Given the description of an element on the screen output the (x, y) to click on. 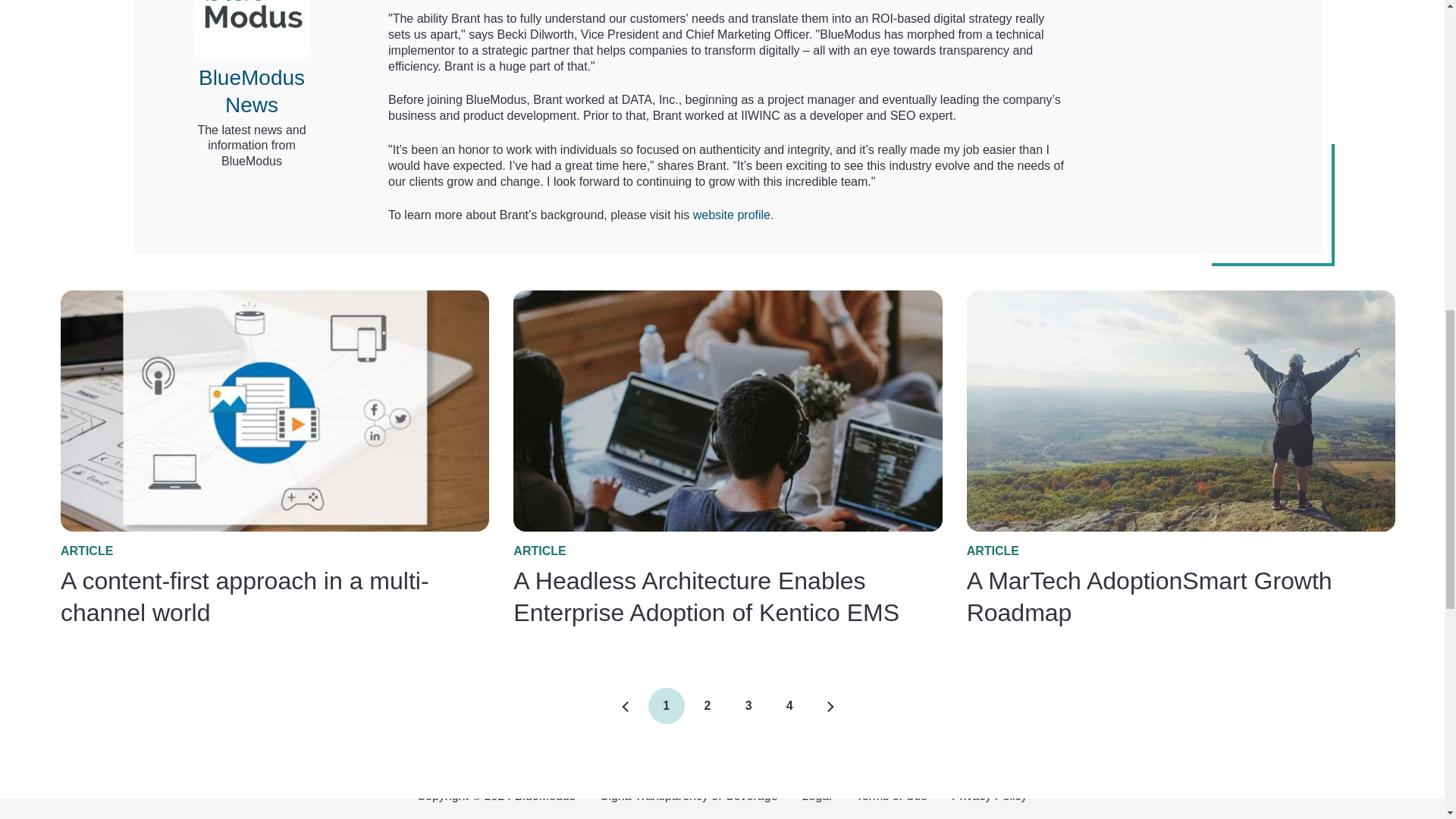
4 (625, 707)
website profile (789, 705)
3 (731, 214)
1 (748, 705)
2 (665, 705)
